Given the description of an element on the screen output the (x, y) to click on. 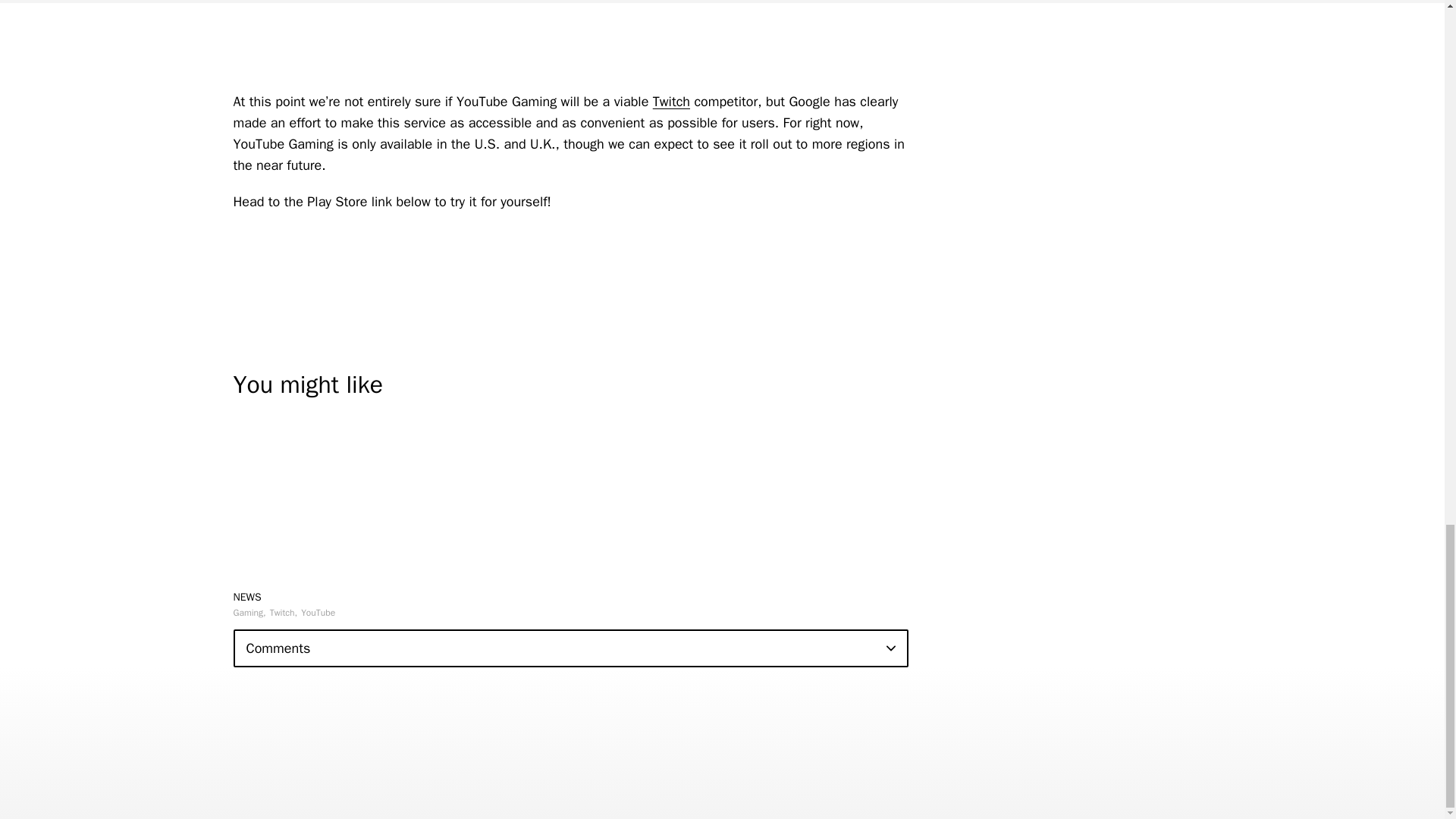
Twitch (283, 612)
NEWS (247, 596)
Comments (570, 648)
Gaming (249, 612)
YouTube (317, 612)
Twitch (671, 101)
